Given the description of an element on the screen output the (x, y) to click on. 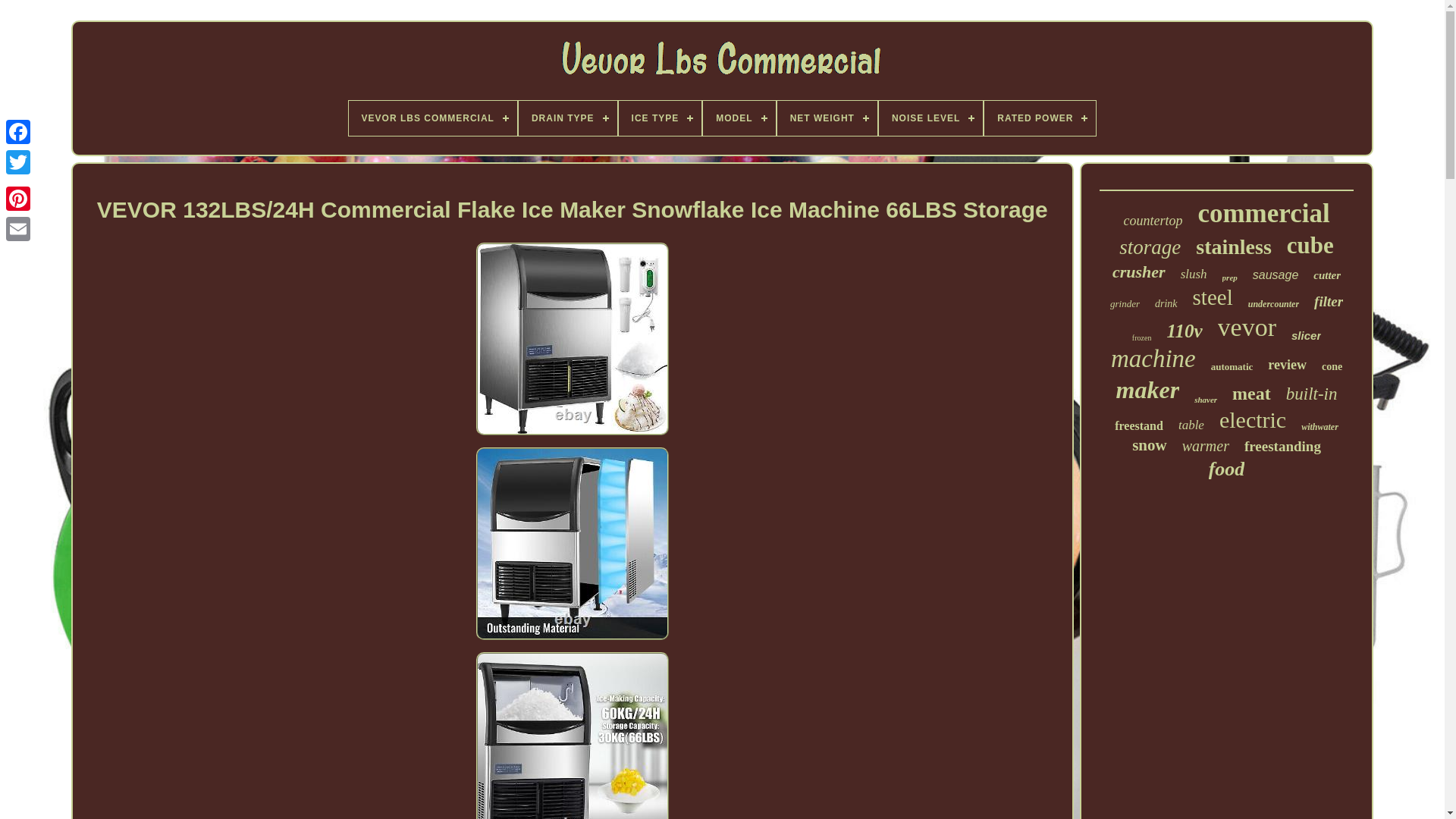
ICE TYPE (659, 117)
DRAIN TYPE (567, 117)
MODEL (738, 117)
VEVOR LBS COMMERCIAL (432, 117)
